Given the description of an element on the screen output the (x, y) to click on. 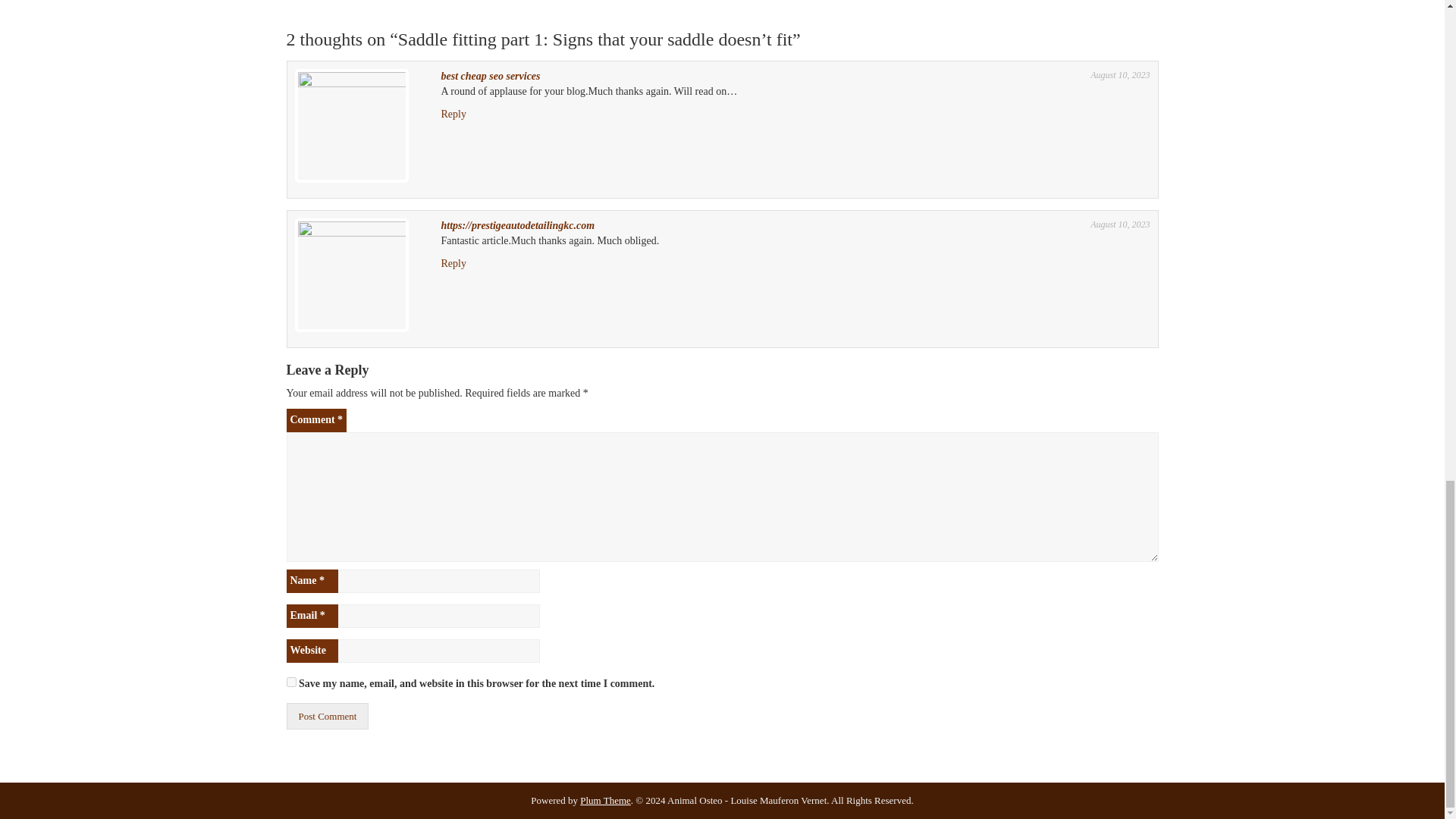
yes (291, 682)
Post Comment (327, 715)
Reply (453, 113)
Plum Theme (604, 799)
best cheap seo services (490, 75)
Post Comment (327, 715)
Reply (453, 263)
